Given the description of an element on the screen output the (x, y) to click on. 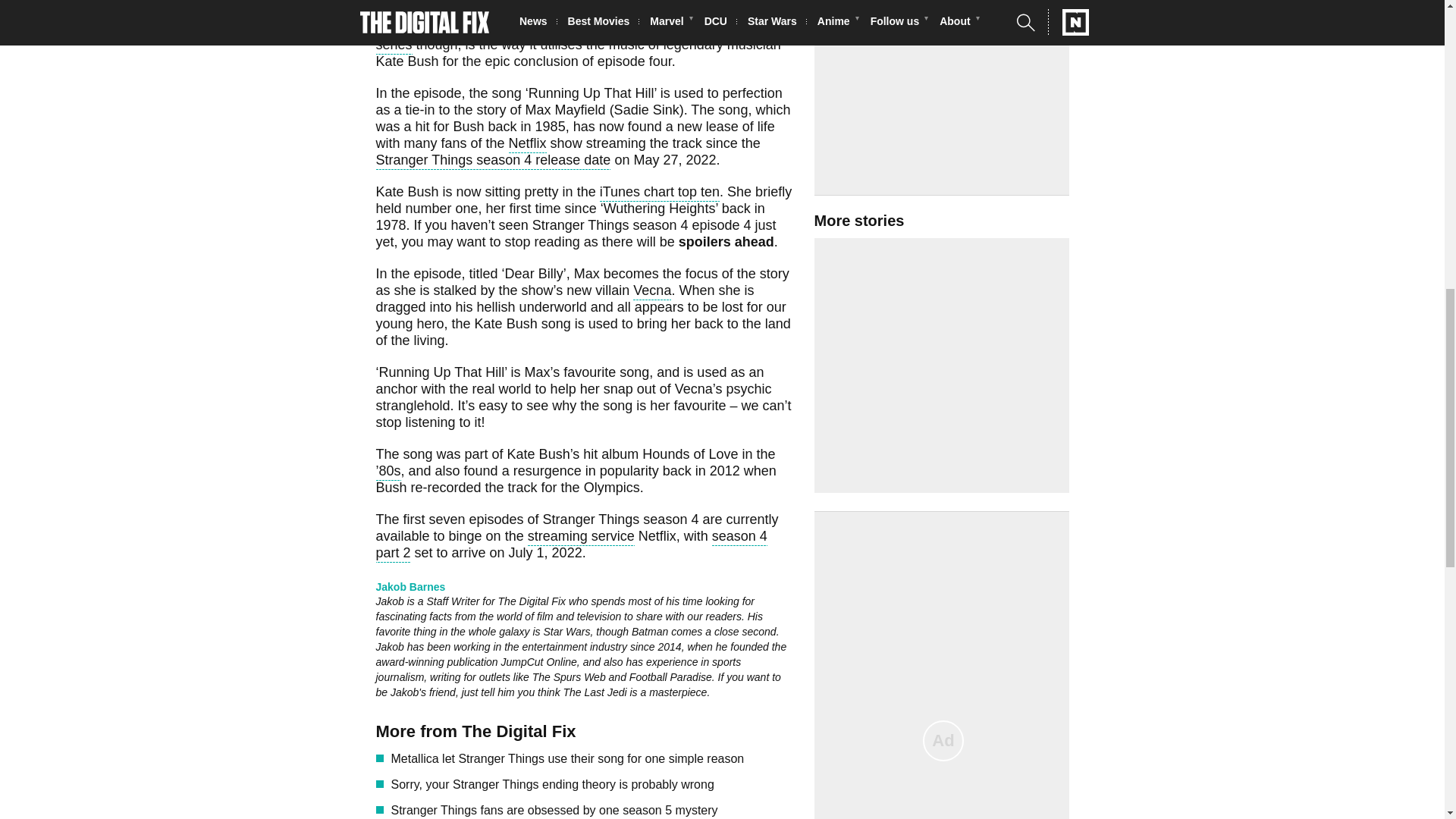
sci-fi series (573, 38)
ramping up the horror elements (642, 13)
Netflix series (576, 11)
